Given the description of an element on the screen output the (x, y) to click on. 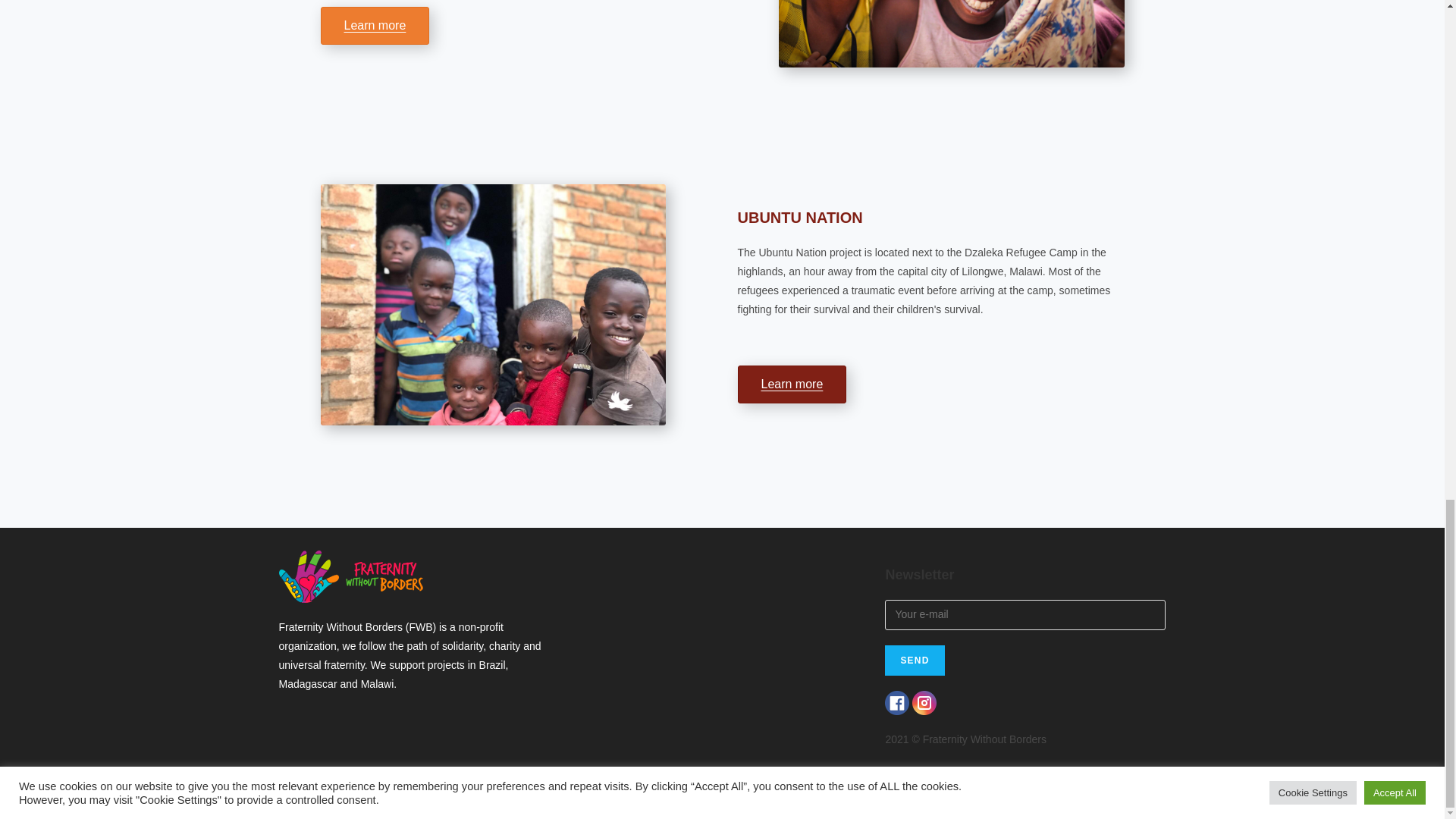
Privacy Policy (735, 802)
Send (914, 660)
Learn more (790, 384)
Learn more (374, 25)
Send (914, 660)
